Given the description of an element on the screen output the (x, y) to click on. 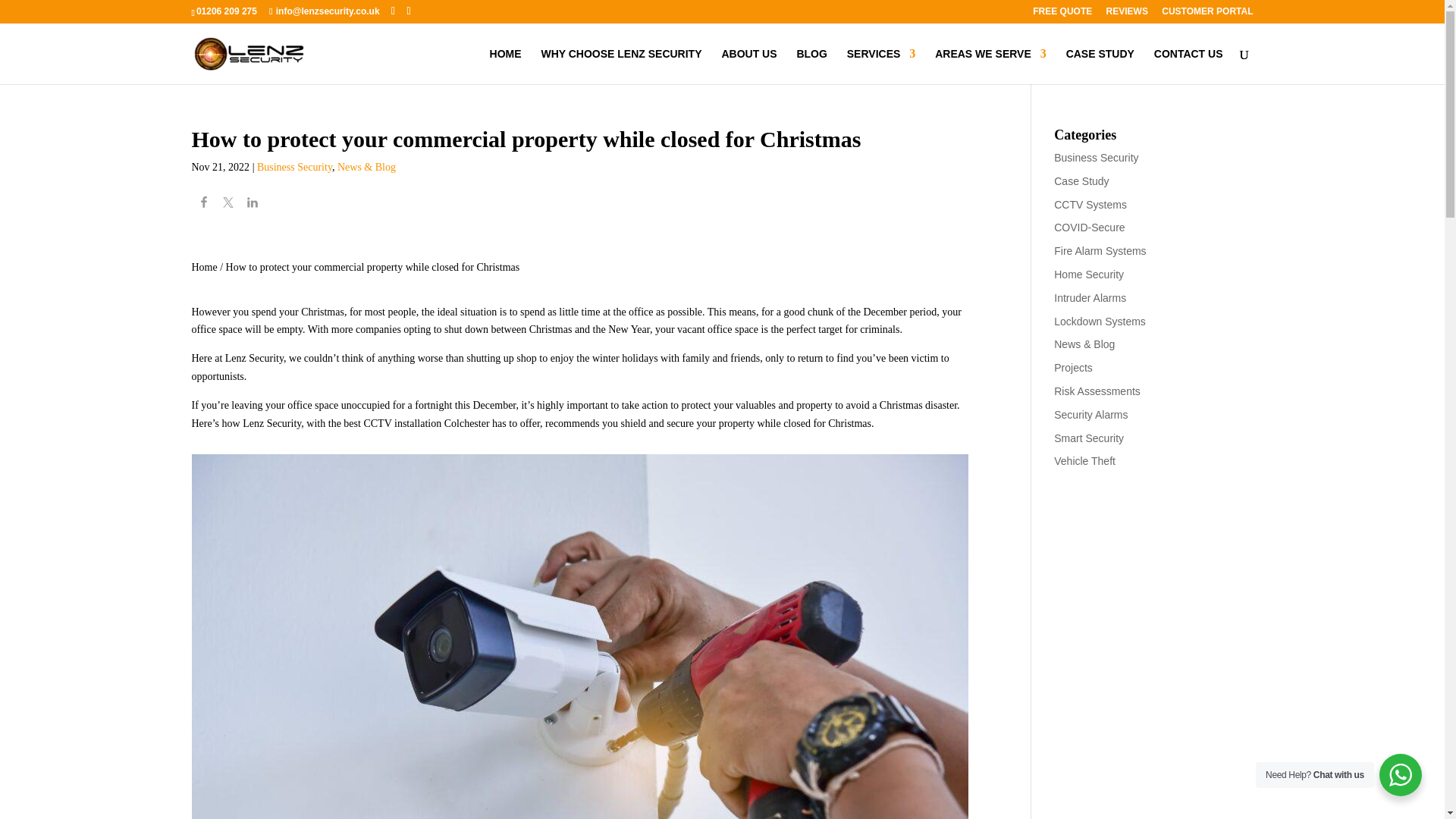
ABOUT US (748, 66)
Share on Twitter (227, 204)
FREE QUOTE (1062, 14)
REVIEWS (1127, 14)
CONTACT US (1188, 66)
CASE STUDY (1099, 66)
CUSTOMER PORTAL (1206, 14)
Share on LinkedIn (251, 204)
AREAS WE SERVE (990, 66)
SERVICES (881, 66)
HOME (505, 66)
WHY CHOOSE LENZ SECURITY (620, 66)
Share on Facebook (202, 204)
